Given the description of an element on the screen output the (x, y) to click on. 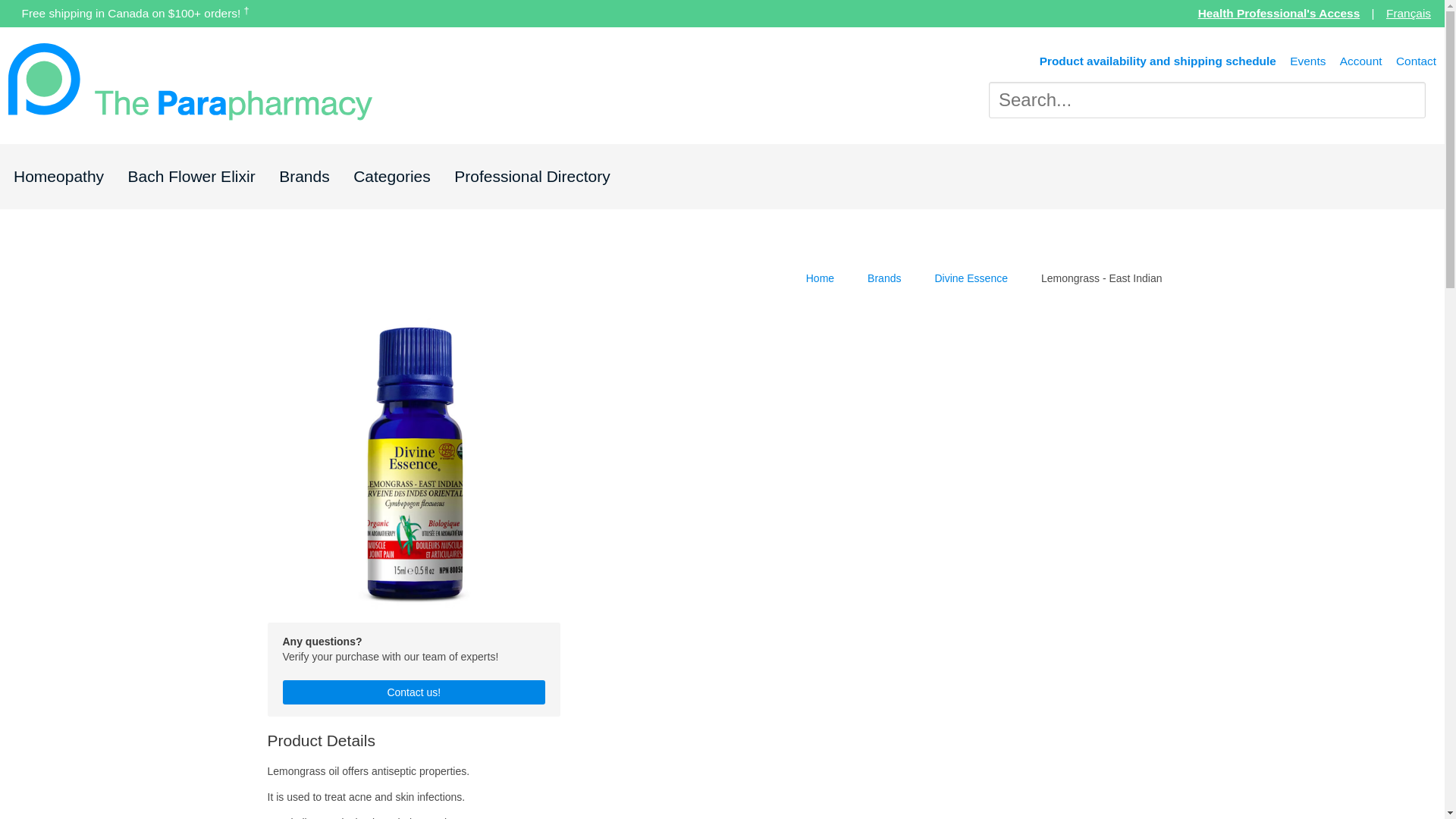
Homeopathy (58, 176)
Product availability and shipping schedule (1157, 60)
Contact us! (413, 692)
Account (1360, 60)
Home (820, 278)
Categories (391, 176)
Bach Flower Elixir (192, 176)
Brands (884, 278)
Contact (1415, 60)
Brands (304, 176)
